Given the description of an element on the screen output the (x, y) to click on. 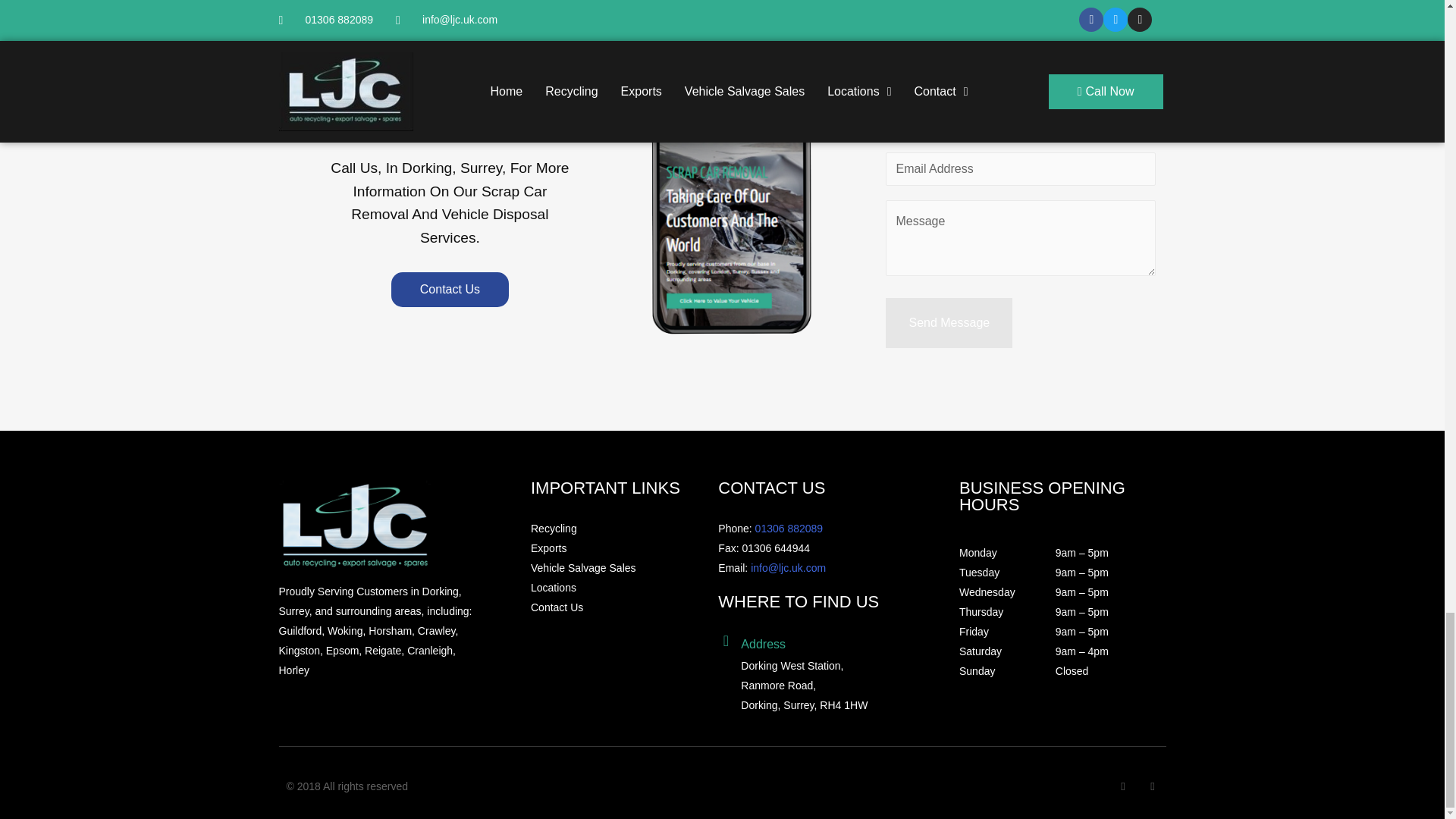
Send Message (948, 323)
Phone Number (1019, 121)
Email Address (1019, 168)
